Given the description of an element on the screen output the (x, y) to click on. 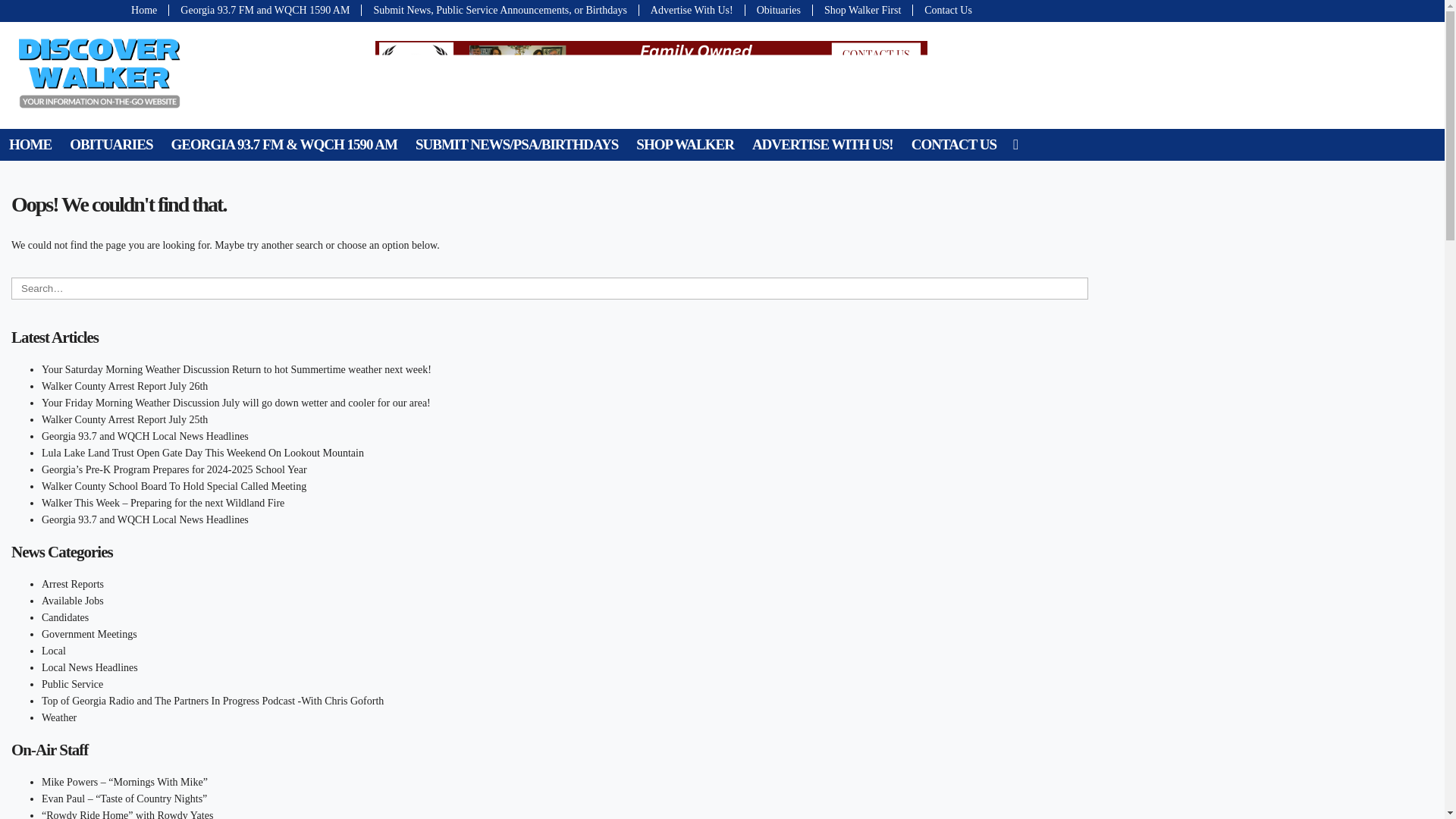
Home (148, 9)
Advertise With Us! (692, 9)
Obituaries (778, 9)
Georgia 93.7 and WQCH Local News Headlines (145, 436)
Shop Walker First (862, 9)
Georgia 93.7 FM and WQCH 1590 AM (264, 9)
Georgia 93.7 and WQCH Local News Headlines (145, 519)
Contact Us (942, 9)
Walker County Arrest Report July 26th (125, 386)
Walker County School Board To Hold Special Called Meeting (173, 486)
Submit News, Public Service Announcements, or Birthdays (500, 9)
Walker County Arrest Report July 25th (125, 419)
